Given the description of an element on the screen output the (x, y) to click on. 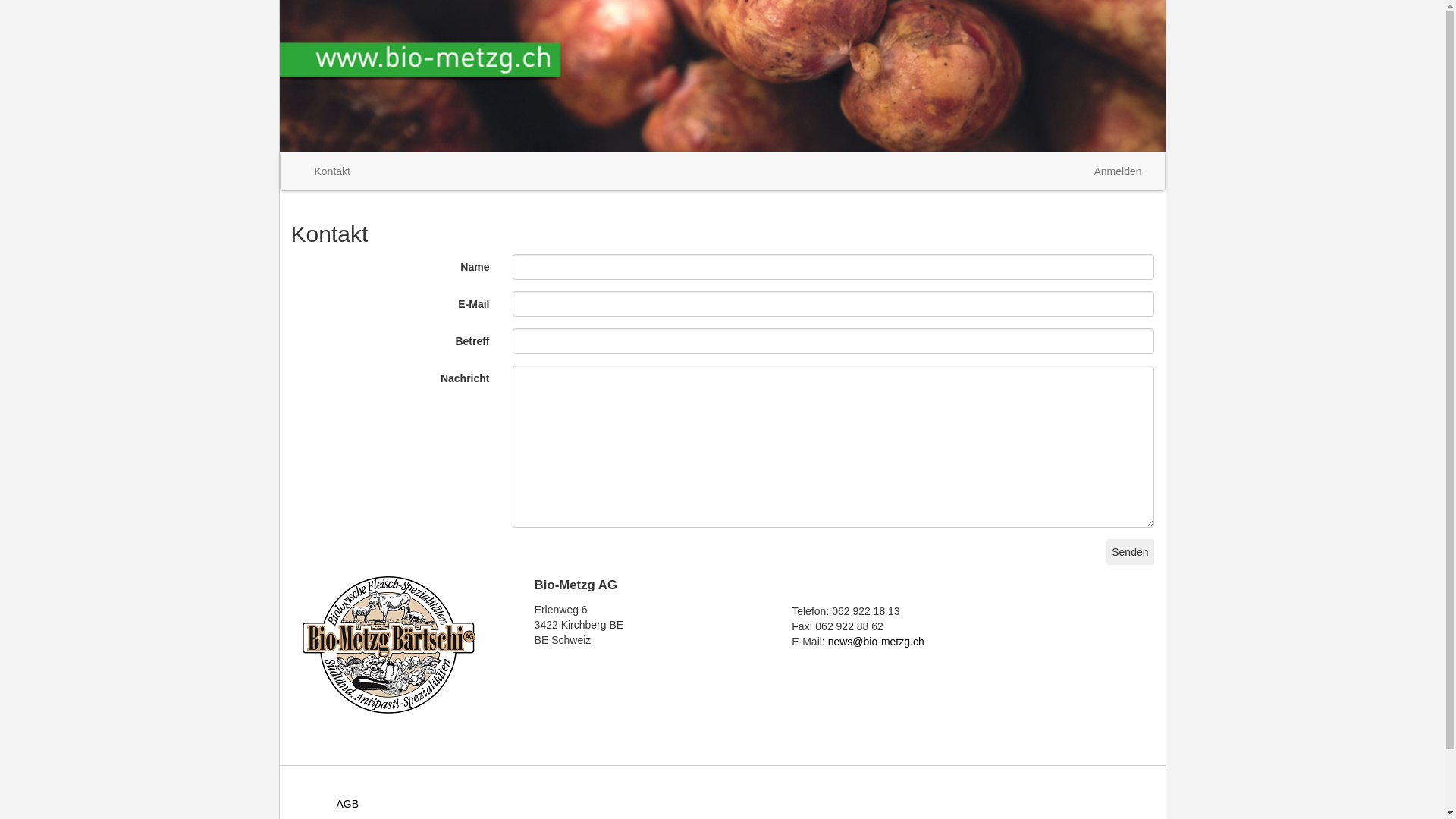
news@bio-metzg.ch Element type: text (876, 641)
Kontakt Element type: text (332, 171)
lle.statushop.contact.email Element type: hover (833, 303)
Senden Element type: text (1129, 551)
Mindestens drei Buchstaben Element type: hover (833, 341)
Mindestens zwei Buchstaben Element type: hover (833, 266)
Anmelden Element type: text (1117, 171)
Nachricht Element type: hover (833, 446)
AGB Element type: text (347, 803)
